Given the description of an element on the screen output the (x, y) to click on. 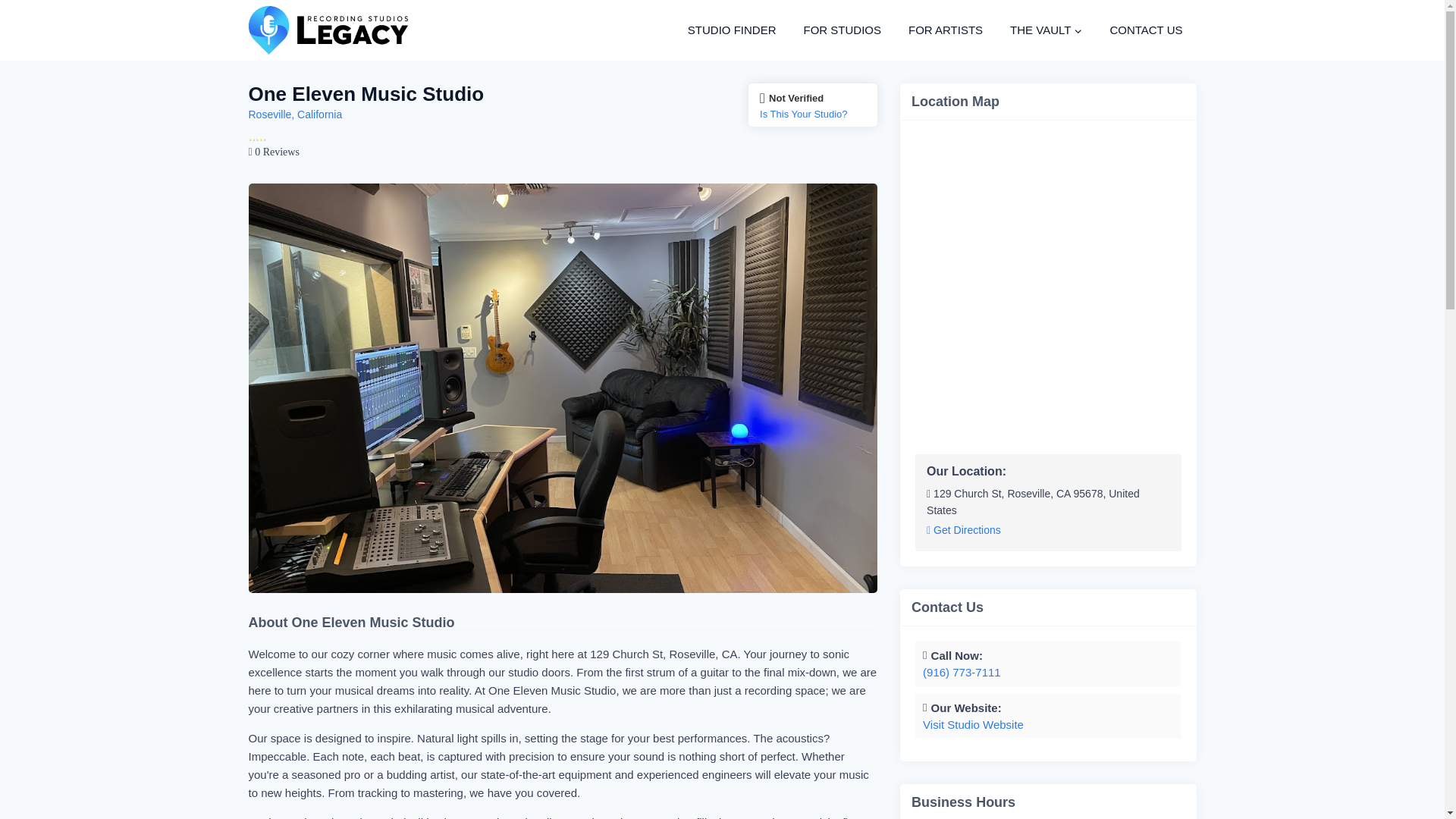
Visit Studio Website (973, 724)
THE VAULT (1045, 29)
STUDIO FINDER (732, 29)
Roseville (270, 114)
FOR ARTISTS (945, 29)
Is This Your Studio? (813, 113)
Get Directions (963, 530)
FOR STUDIOS (842, 29)
California (319, 114)
CONTACT US (1145, 29)
